Given the description of an element on the screen output the (x, y) to click on. 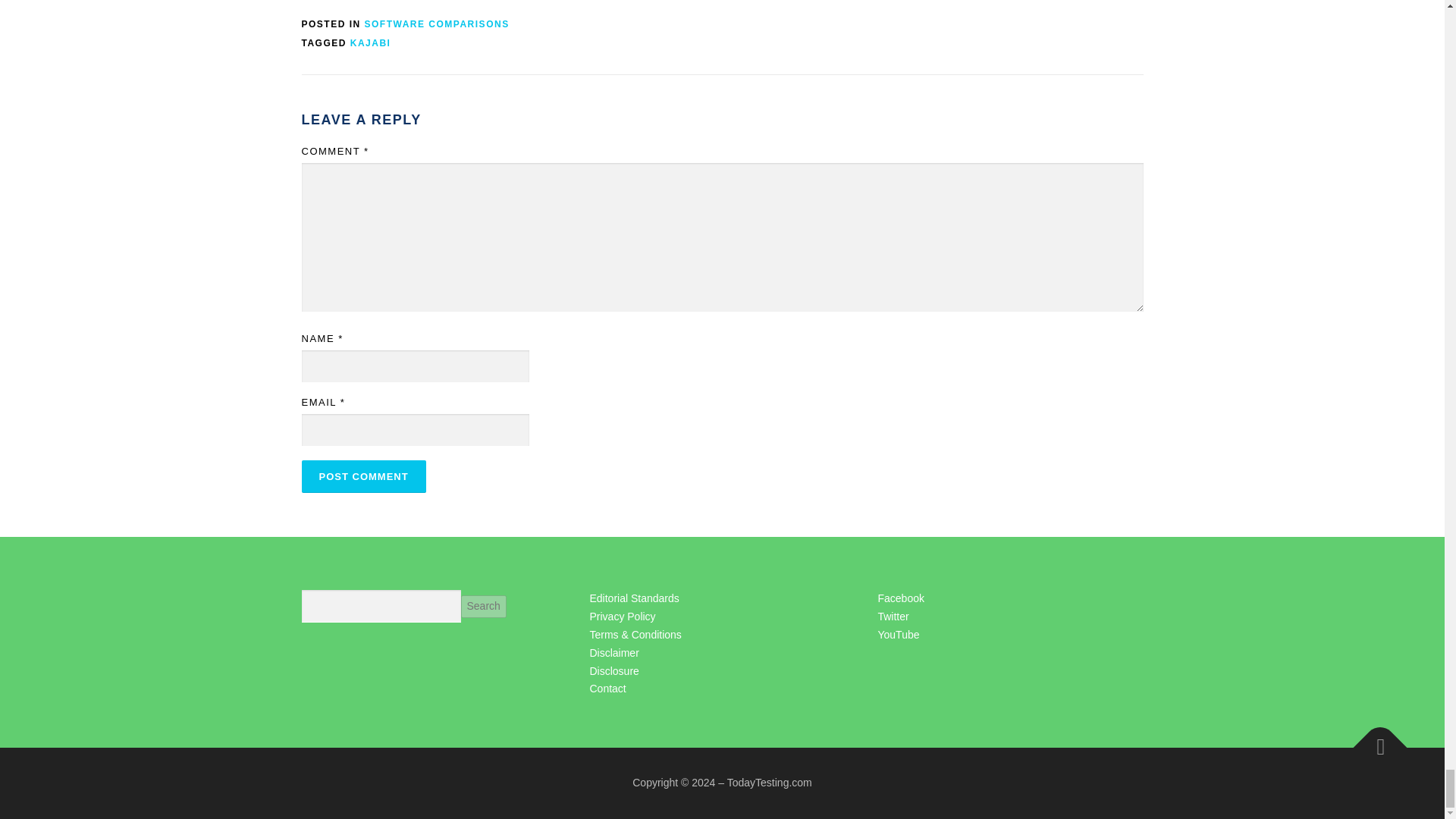
Post Comment (363, 476)
Back To Top (1372, 740)
